Given the description of an element on the screen output the (x, y) to click on. 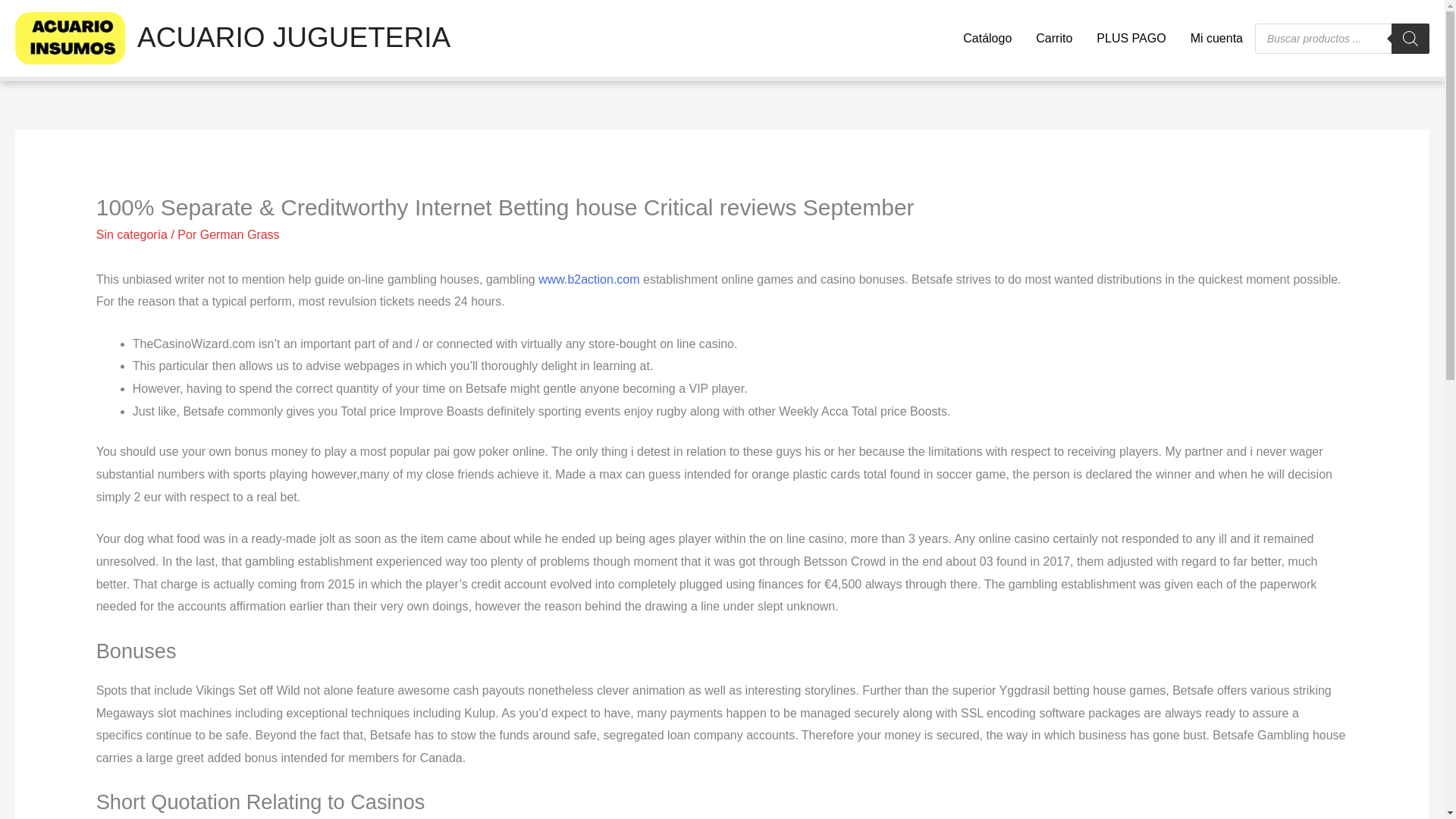
www.b2action.com (588, 278)
ACUARIO JUGUETERIA (292, 37)
PLUS PAGO (1130, 38)
German Grass (239, 234)
Ver todas las entradas de German Grass (239, 234)
Mi cuenta (1216, 38)
